Given the description of an element on the screen output the (x, y) to click on. 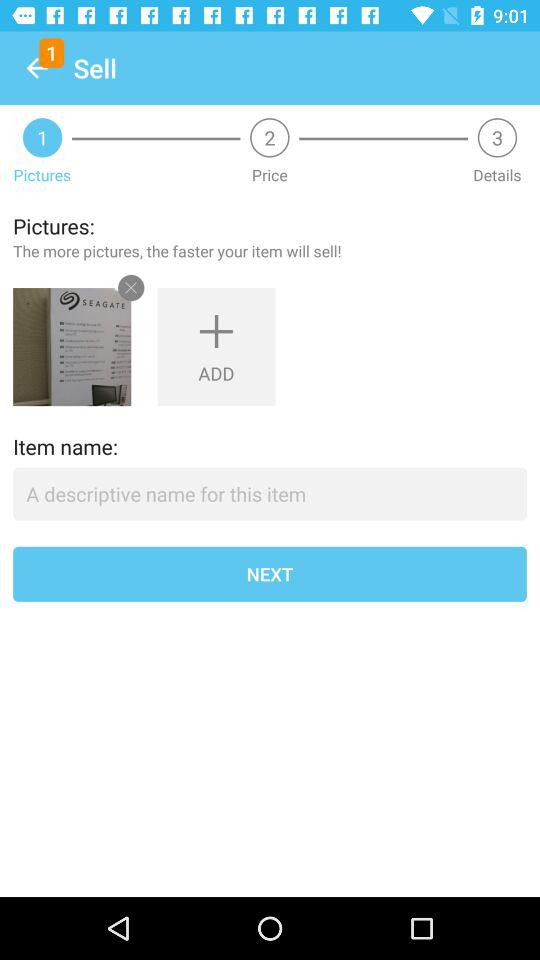
add a name to the item (269, 493)
